Given the description of an element on the screen output the (x, y) to click on. 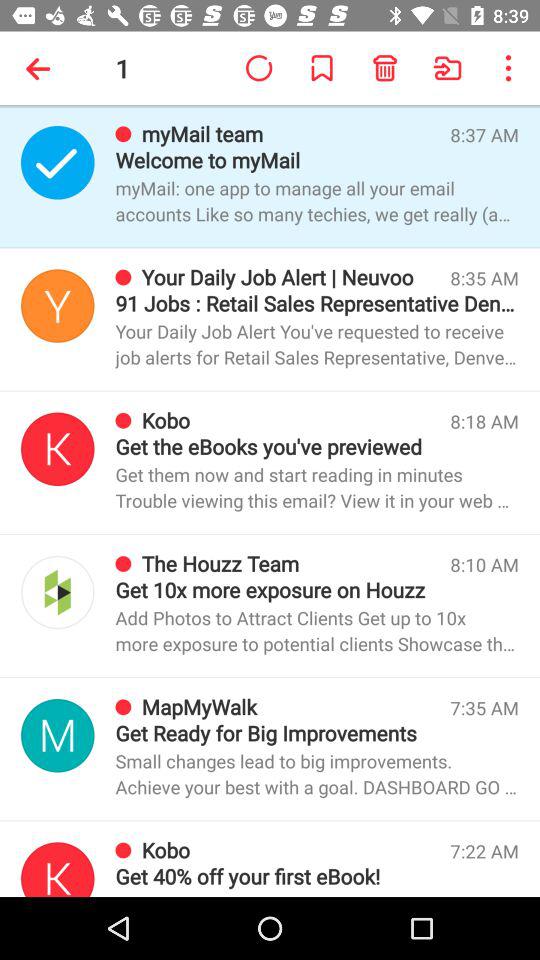
turn off app next to the 1 item (41, 68)
